Given the description of an element on the screen output the (x, y) to click on. 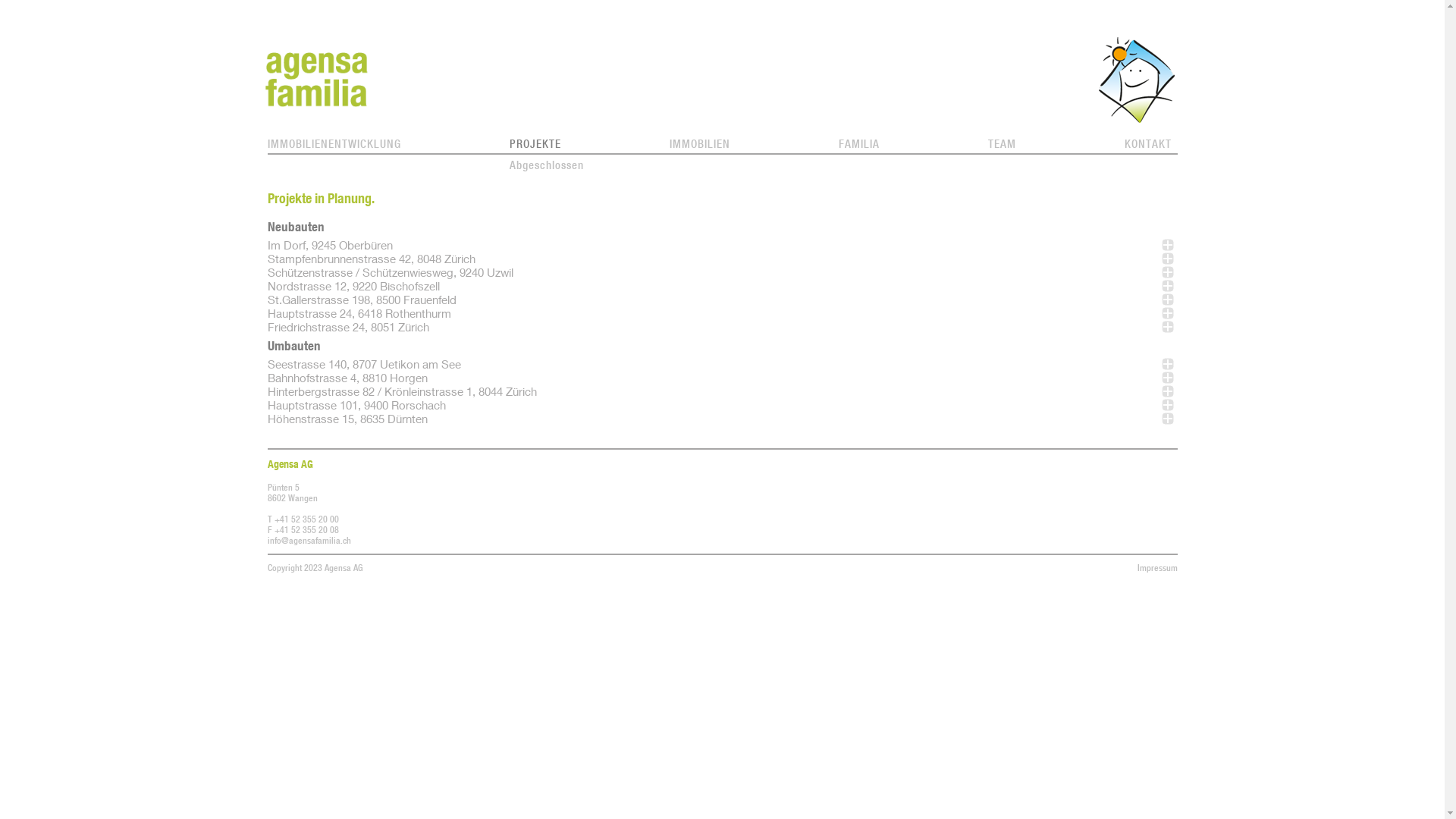
Impressum Element type: text (1157, 567)
Abgeschlossen Element type: text (546, 164)
IMMOBILIEN Element type: text (698, 143)
IMMOBILIENENTWICKLUNG Element type: text (333, 143)
KONTAKT Element type: text (1146, 143)
FAMILIA Element type: text (858, 143)
T +41 52 355 20 00 Element type: text (302, 519)
TEAM Element type: text (1001, 143)
PROJEKTE Element type: text (535, 143)
info@agensafamilia.ch Element type: text (308, 540)
